Given the description of an element on the screen output the (x, y) to click on. 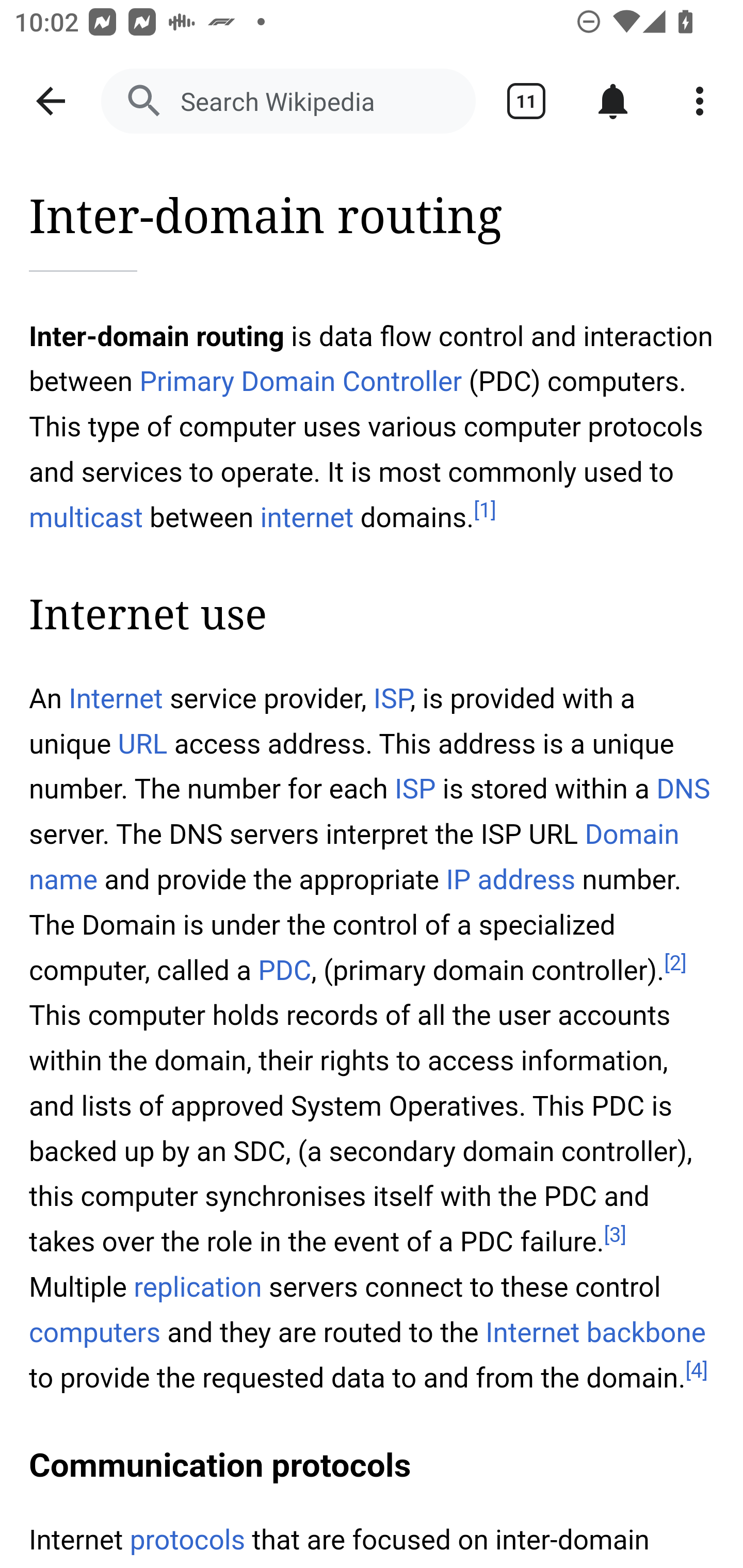
Show tabs 11 (525, 100)
Notifications (612, 100)
Navigate up (50, 101)
More options (699, 101)
Search Wikipedia (288, 100)
Primary Domain Controller (300, 381)
[] [ 1 ] (484, 510)
multicast (86, 517)
internet (307, 517)
Internet (116, 699)
ISP (391, 699)
URL (142, 744)
ISP (414, 789)
DNS (683, 789)
Domain name (354, 856)
IP address (509, 879)
[] [ 2 ] (675, 963)
PDC (284, 970)
[] [ 3 ] (615, 1233)
replication (198, 1287)
computers (95, 1332)
Internet backbone (595, 1332)
[] [ 4 ] (696, 1370)
protocols (186, 1540)
